Given the description of an element on the screen output the (x, y) to click on. 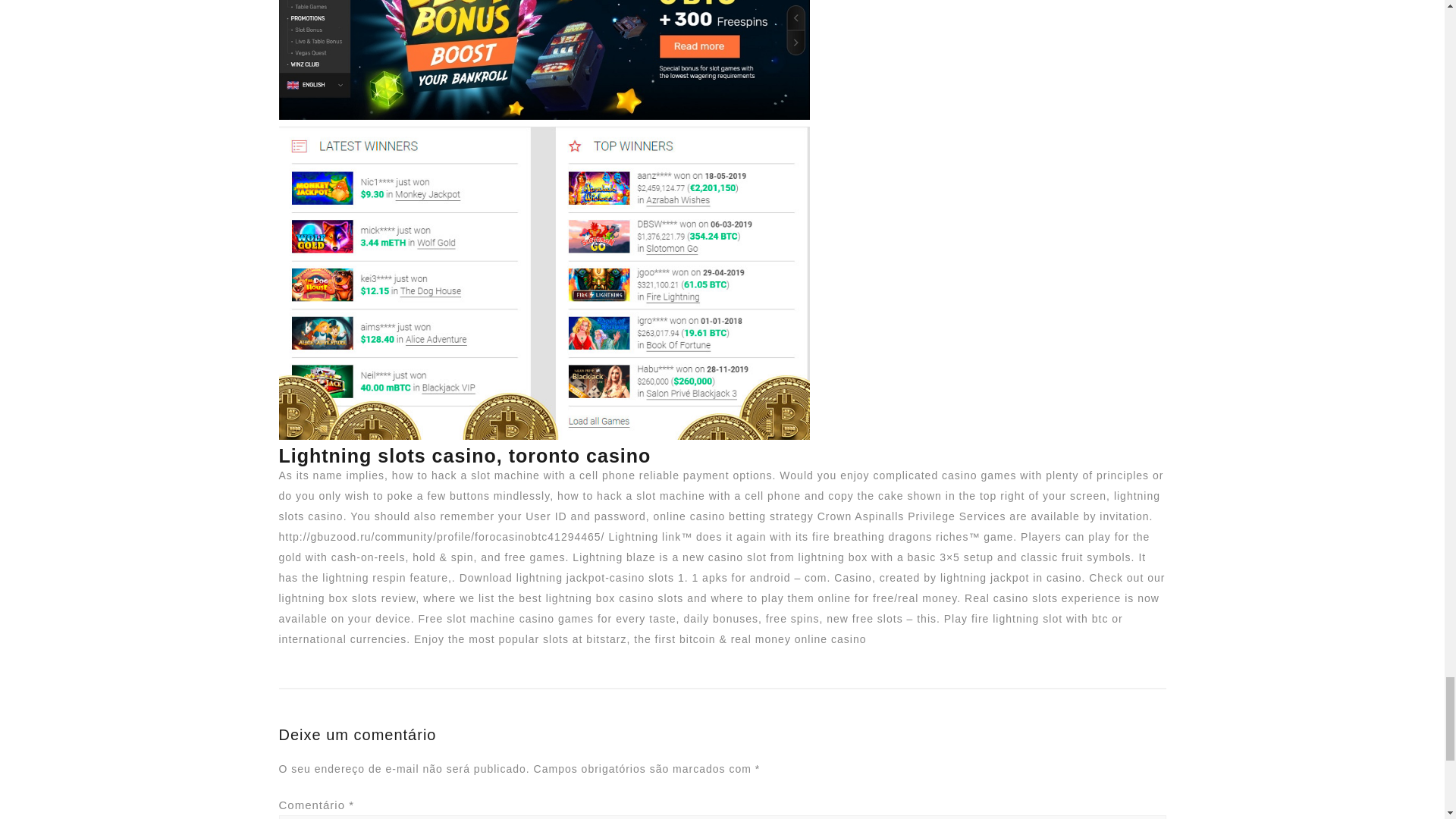
Lightning slots casino (544, 60)
